Given the description of an element on the screen output the (x, y) to click on. 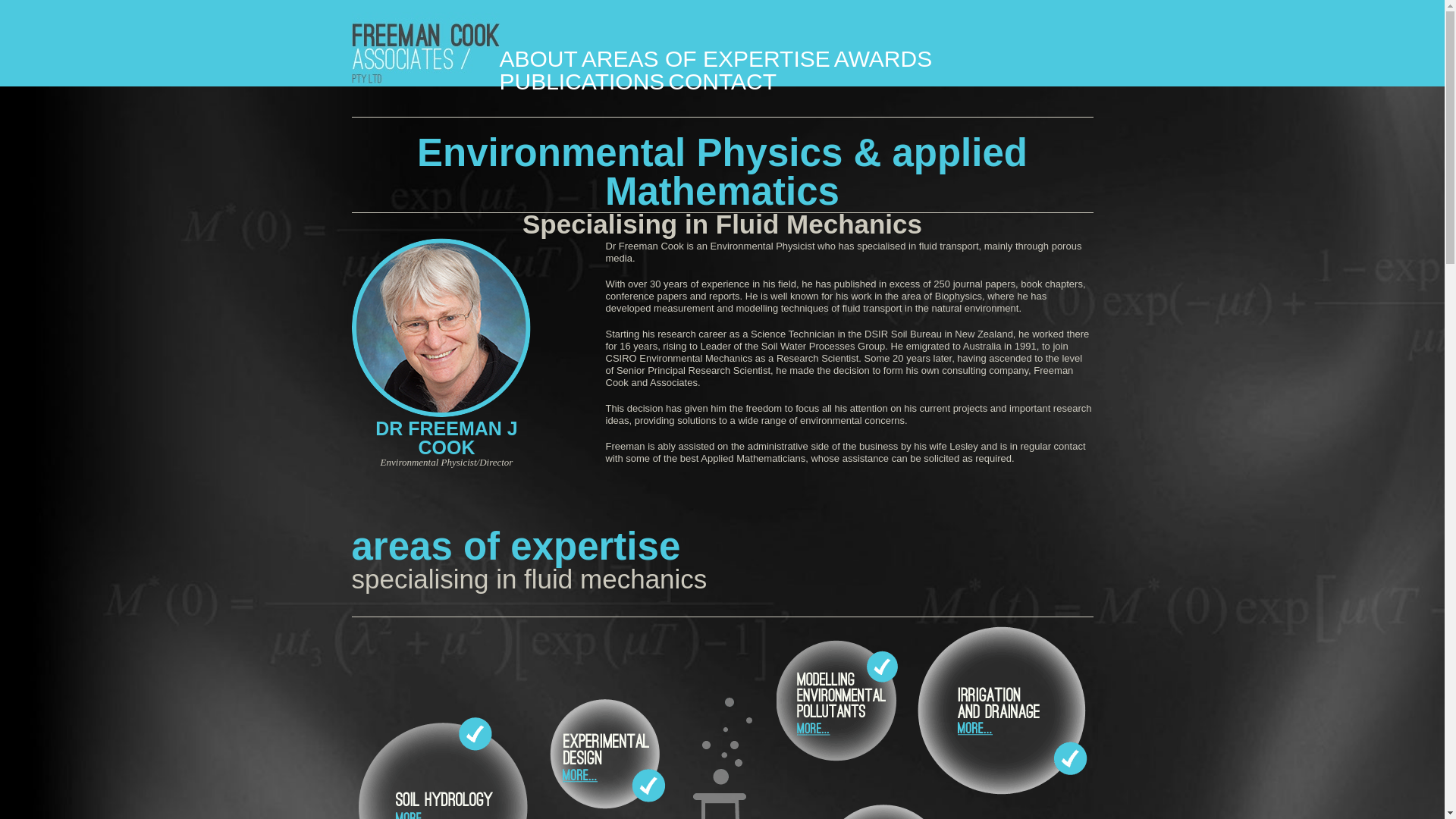
Irrigation and Drainage Element type: text (995, 712)
AREAS OF EXPERTISE Element type: text (705, 58)
Modelling Environmental Pollutants Element type: text (838, 701)
CONTACT Element type: text (722, 81)
AWARDS Element type: text (882, 58)
ABOUT Element type: text (537, 58)
Experimental Design Element type: text (605, 752)
PUBLICATIONS Element type: text (581, 81)
